Given the description of an element on the screen output the (x, y) to click on. 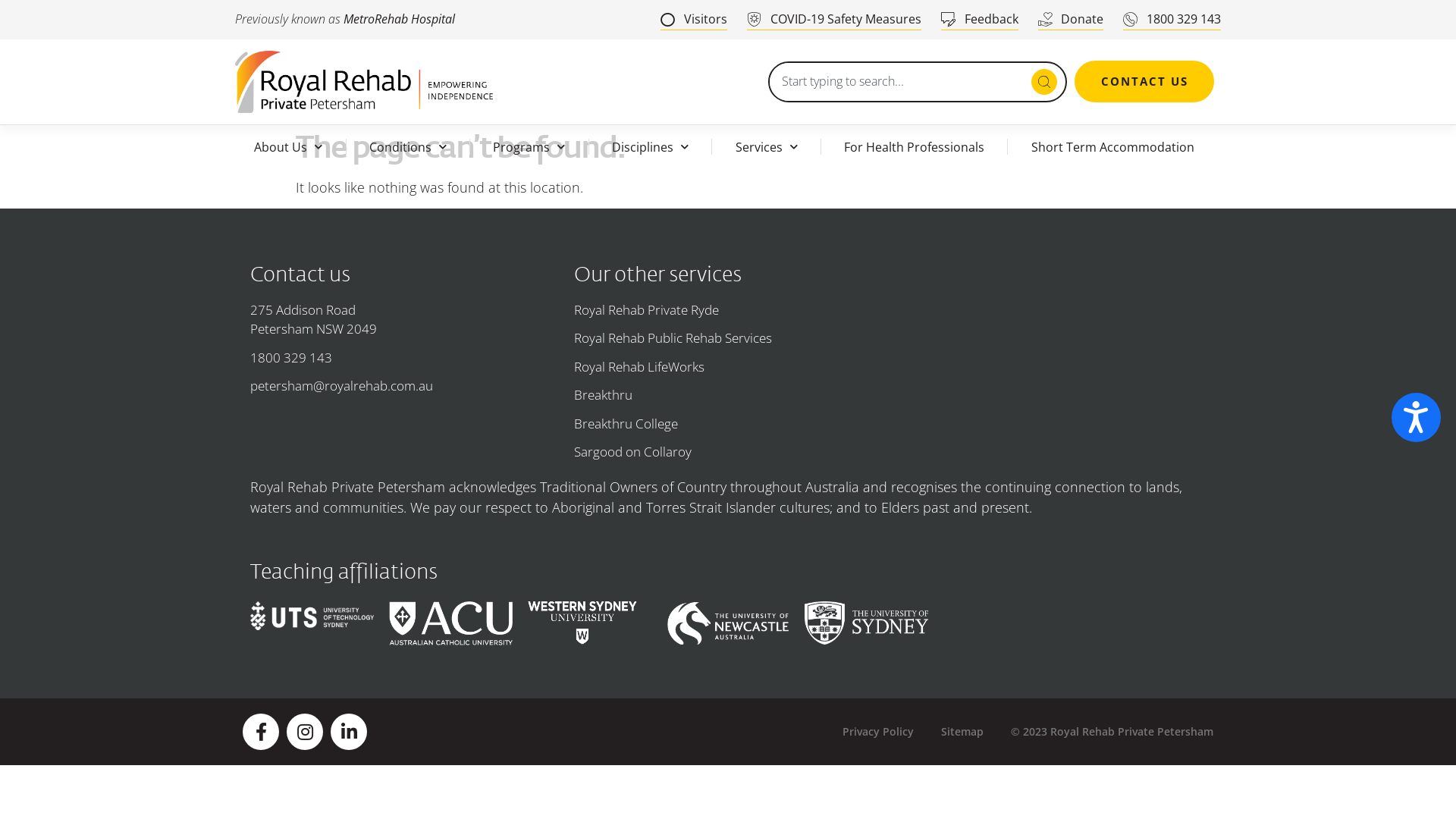
1800 329 143 Element type: text (404, 357)
Breakthru College Element type: text (728, 423)
Disciplines Element type: text (650, 147)
Sitemap Element type: text (962, 731)
Conditions Element type: text (408, 147)
1800 329 143 Element type: text (1171, 19)
Royal Rehab LifeWorks Element type: text (728, 366)
Donate Element type: text (1070, 19)
COVID-19 Safety Measures Element type: text (833, 19)
Royal Rehab Public Rehab Services Element type: text (728, 338)
Programs Element type: text (529, 147)
Short Term Accommodation Element type: text (1112, 147)
275 Addison Road
Petersham NSW 2049 Element type: text (404, 319)
MetroRehab Hospital Element type: text (399, 18)
Breakthru Element type: text (728, 394)
About Us Element type: text (288, 147)
Sargood on Collaroy Element type: text (728, 451)
Services Element type: text (766, 147)
petersham@royalrehab.com.au Element type: text (404, 385)
Royal Rehab Private Ryde Element type: text (728, 310)
CONTACT US Element type: text (1144, 81)
Feedback Element type: text (979, 19)
Visitors Element type: text (693, 19)
Privacy Policy Element type: text (877, 731)
For Health Professionals Element type: text (914, 147)
